Given the description of an element on the screen output the (x, y) to click on. 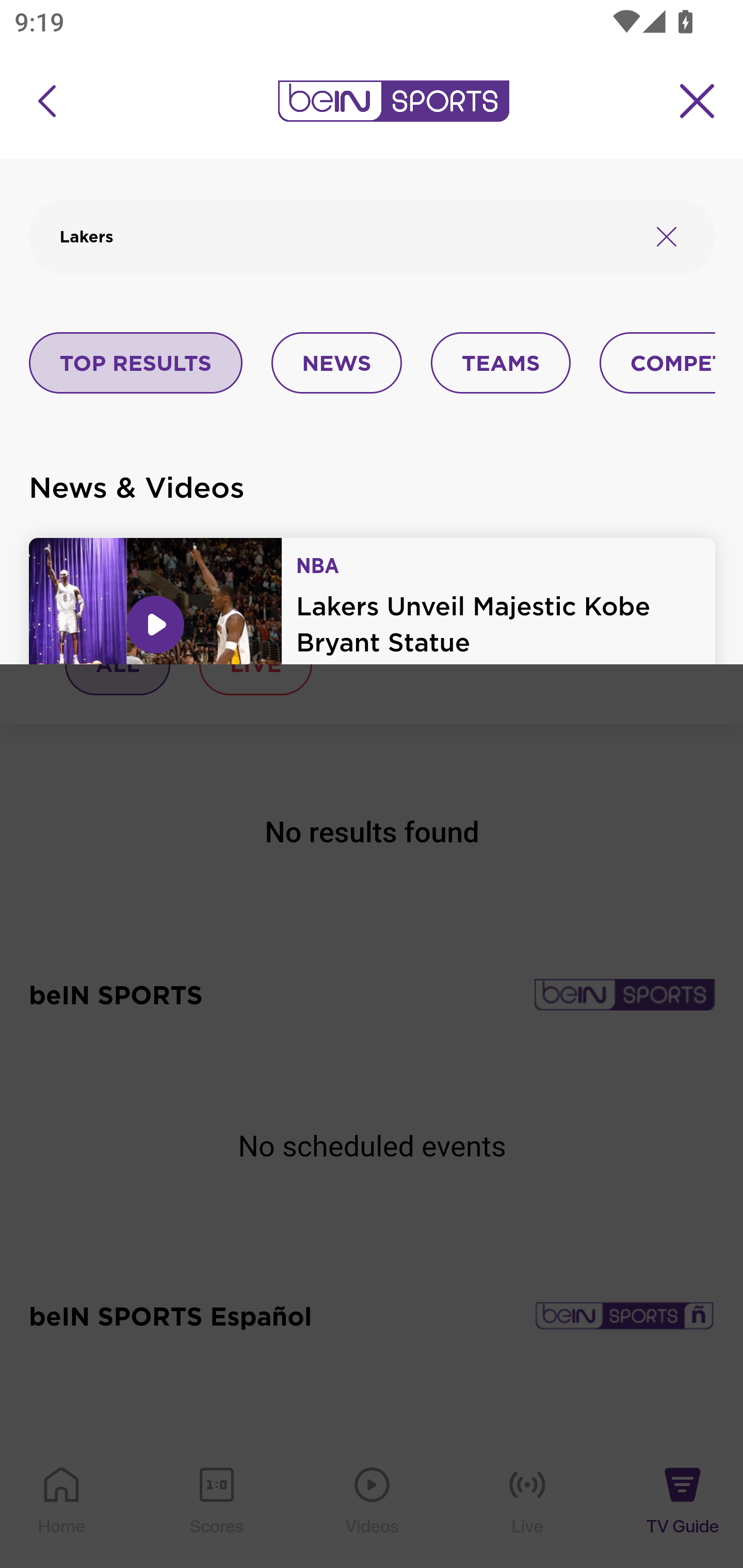
en-us?platform=mobile_android bein logo (392, 101)
icon back (46, 101)
Close Menu Icon (697, 101)
Lakers (346, 235)
TOP RESULTS (135, 363)
NEWS (336, 363)
TEAMS (500, 363)
COMPETITIONS (657, 363)
